Given the description of an element on the screen output the (x, y) to click on. 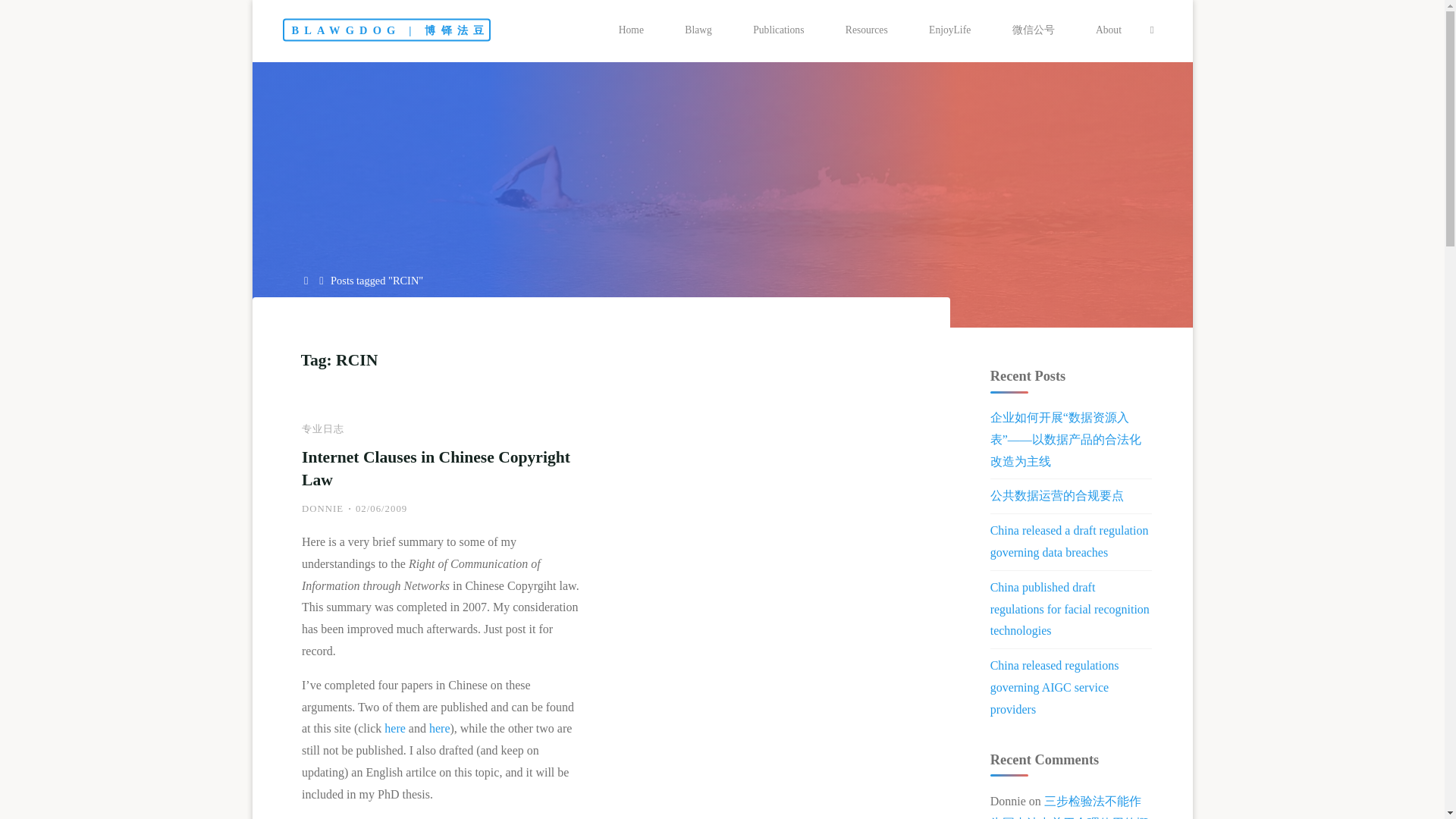
Resources (866, 30)
here (439, 727)
China released regulations governing AIGC service providers (1054, 687)
Home (306, 280)
EnjoyLife (949, 30)
Publications (778, 30)
Internet Clauses in Chinese Copyright Law (435, 467)
Home (631, 30)
here (395, 727)
